Given the description of an element on the screen output the (x, y) to click on. 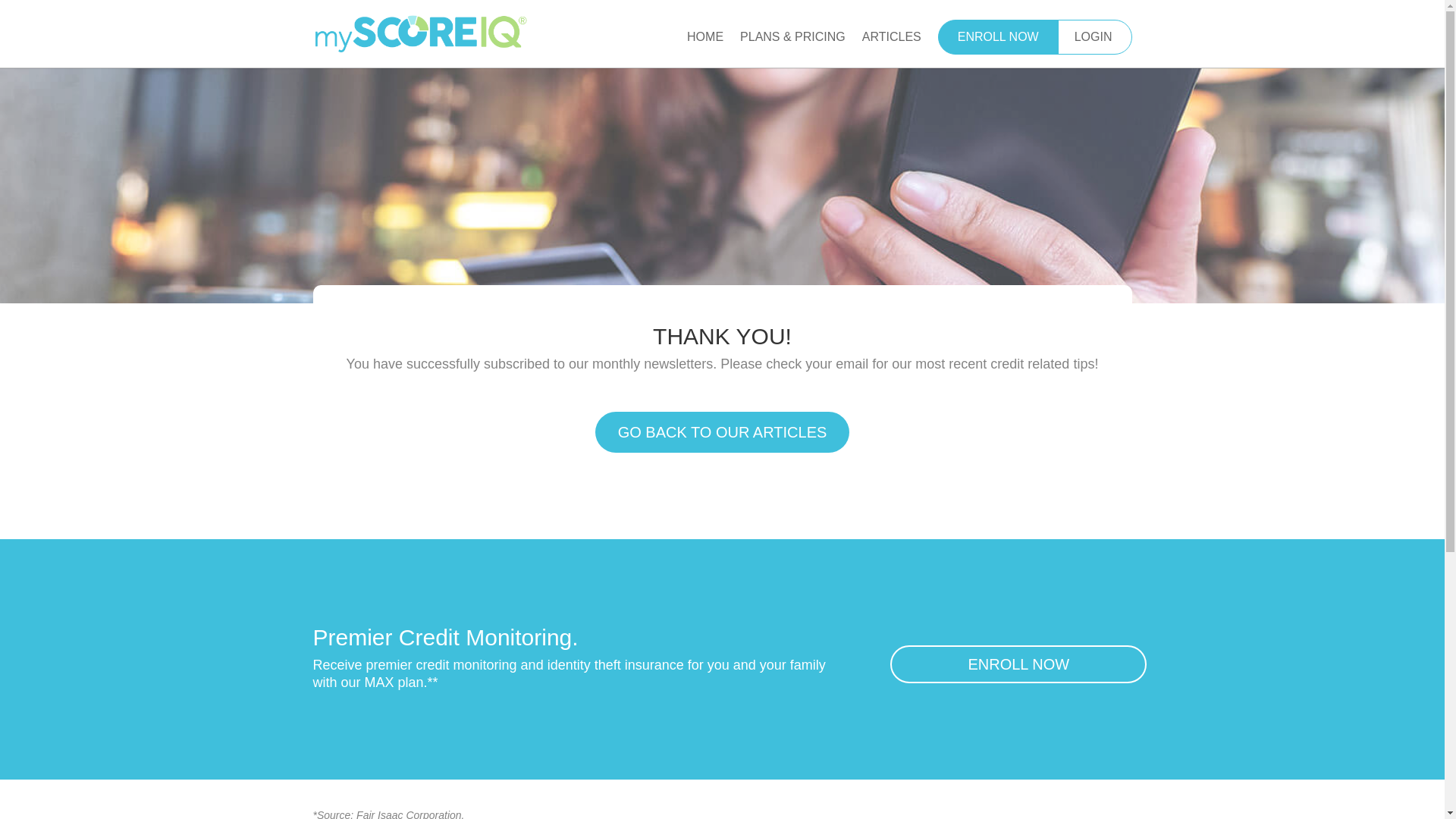
ARTICLES (891, 49)
ENROLL NOW (997, 36)
HOME (705, 49)
LOGIN (1093, 36)
ENROLL NOW (1018, 664)
GO BACK TO OUR ARTICLES (722, 431)
